Given the description of an element on the screen output the (x, y) to click on. 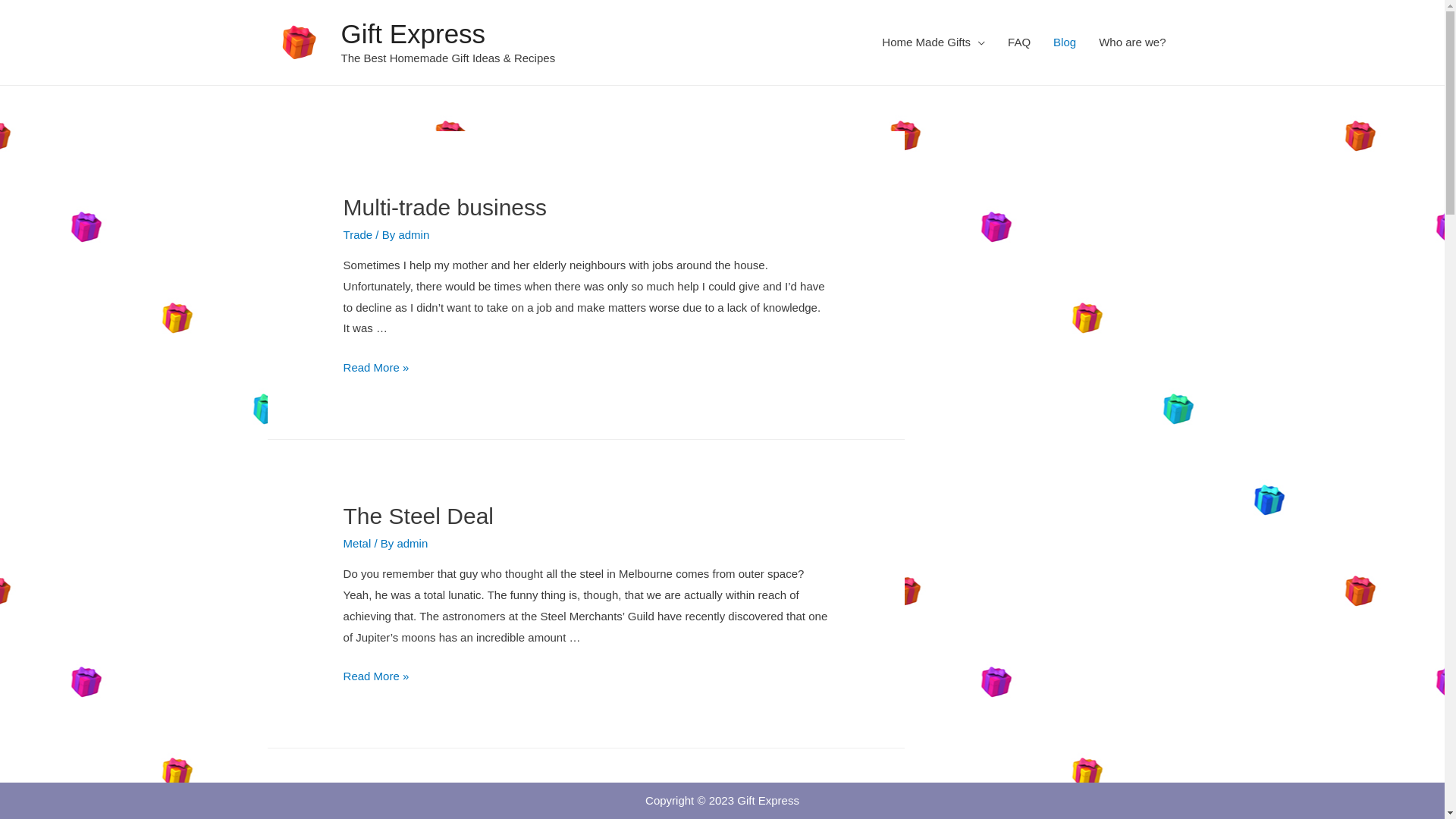
admin Element type: text (411, 542)
Gift Express Element type: text (413, 33)
Blog Element type: text (1064, 42)
Trade Element type: text (358, 234)
admin Element type: text (413, 234)
Home Made Gifts Element type: text (933, 42)
Multi-trade business Element type: text (444, 206)
The Steel Deal Element type: text (418, 515)
Metal Element type: text (357, 542)
Who are we? Element type: text (1131, 42)
FAQ Element type: text (1018, 42)
